Given the description of an element on the screen output the (x, y) to click on. 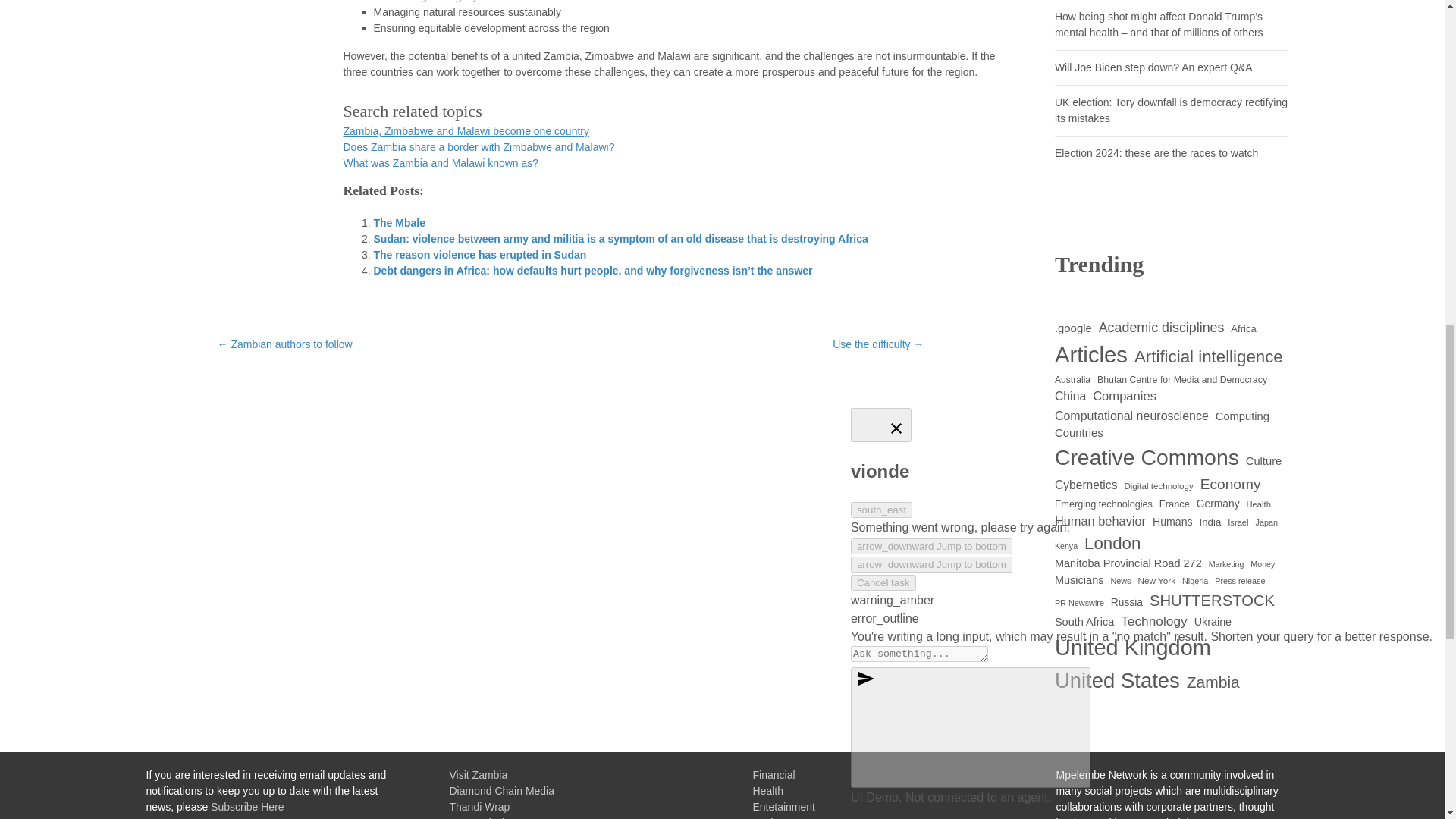
The Mbale (398, 223)
